Given the description of an element on the screen output the (x, y) to click on. 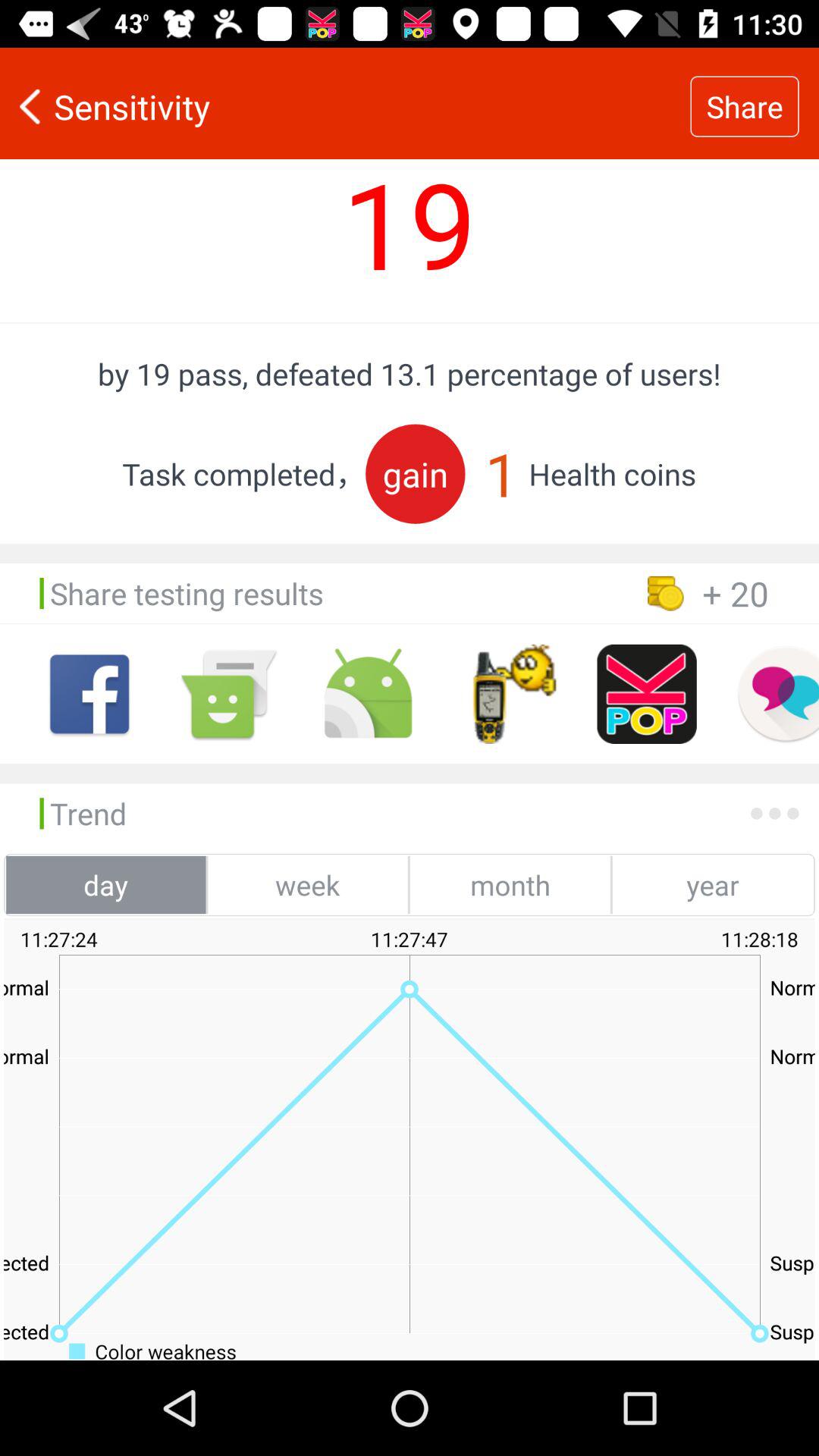
scroll to the day (105, 884)
